Given the description of an element on the screen output the (x, y) to click on. 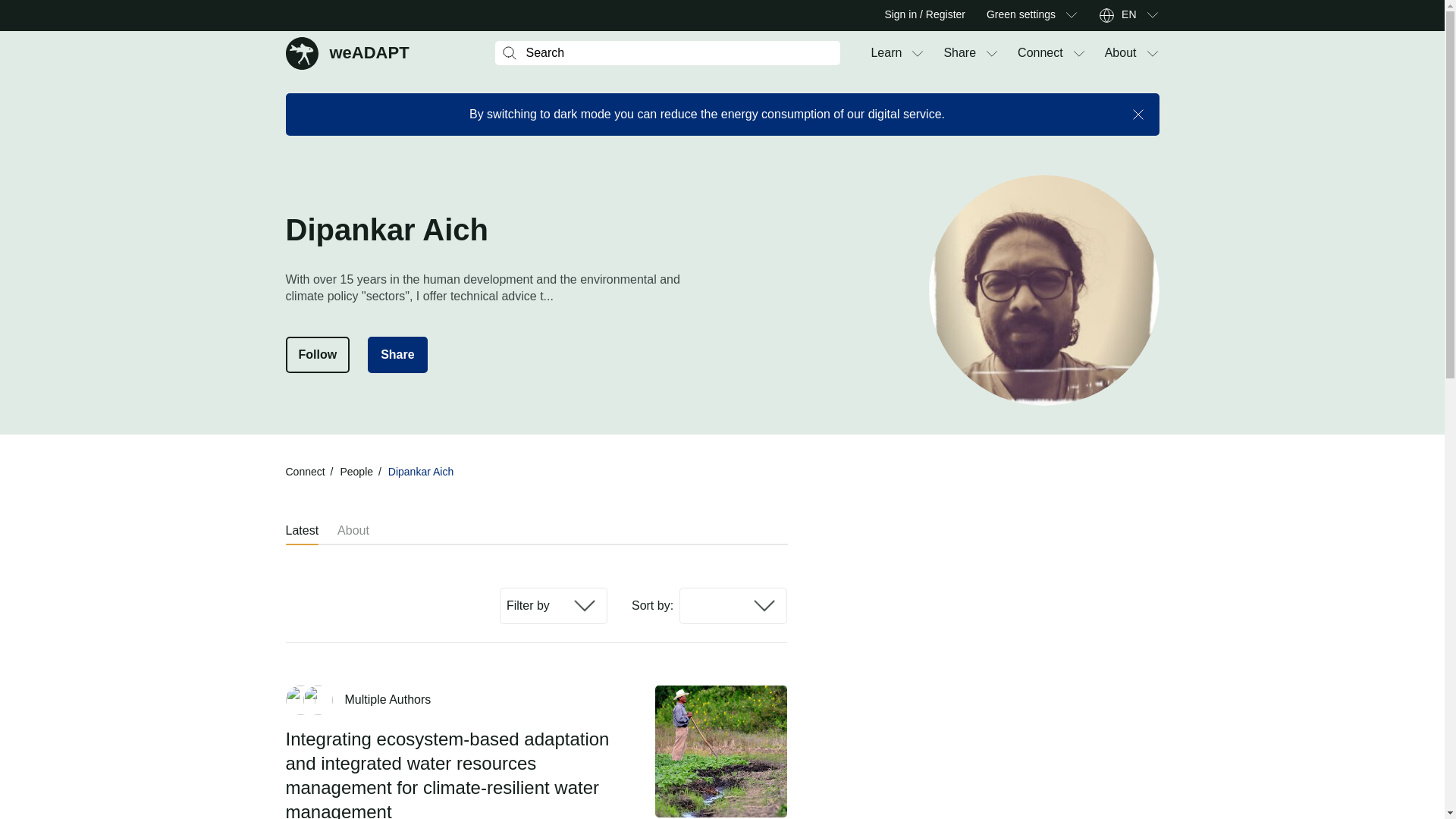
EN (1128, 14)
Submenu (1078, 53)
Green settings (1021, 14)
Translate Submenu (1151, 14)
Share (959, 53)
Connect (1039, 53)
Share Submenu (991, 53)
Submenu (1071, 14)
Learn (885, 53)
About (1121, 53)
Submenu (347, 52)
About Submenu (917, 53)
